Given the description of an element on the screen output the (x, y) to click on. 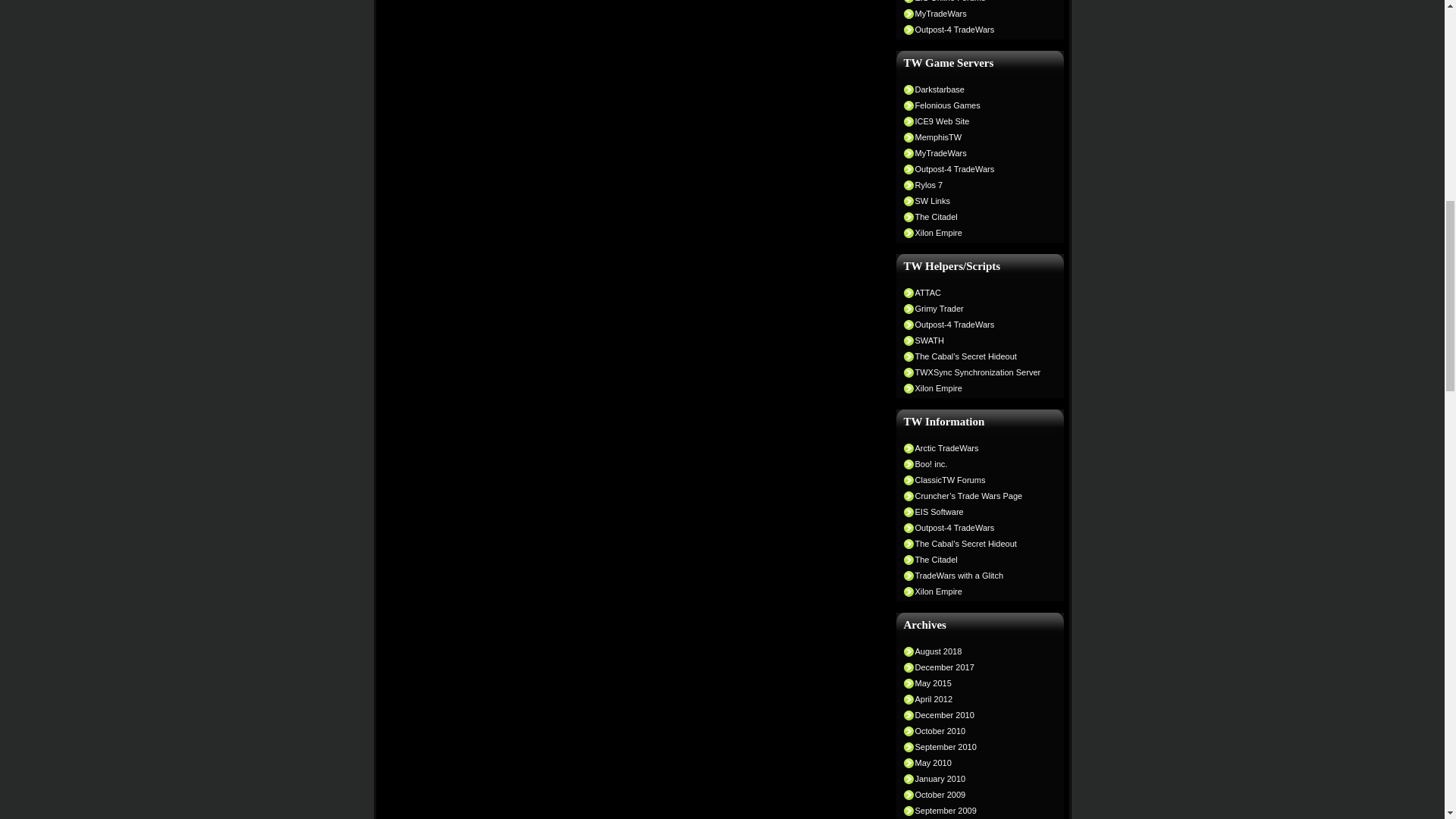
MyTradeWars (976, 13)
Website run by Commander Data (976, 13)
Website run by webspinners (976, 184)
Website run by Anyjoe2000 (976, 121)
Website run by Commander Data (976, 152)
MyTradeWars (976, 152)
Outpost-4 TradeWars (976, 168)
EIS Online Forums (976, 2)
Website run by Thrawn702 (976, 29)
MemphisTW (976, 137)
Darkstarbase (976, 89)
Website run by Space Ghost (976, 216)
Website run by Flinx (976, 89)
Website run by Thrawn702 (976, 168)
Outpost-4 TradeWars (976, 29)
